Given the description of an element on the screen output the (x, y) to click on. 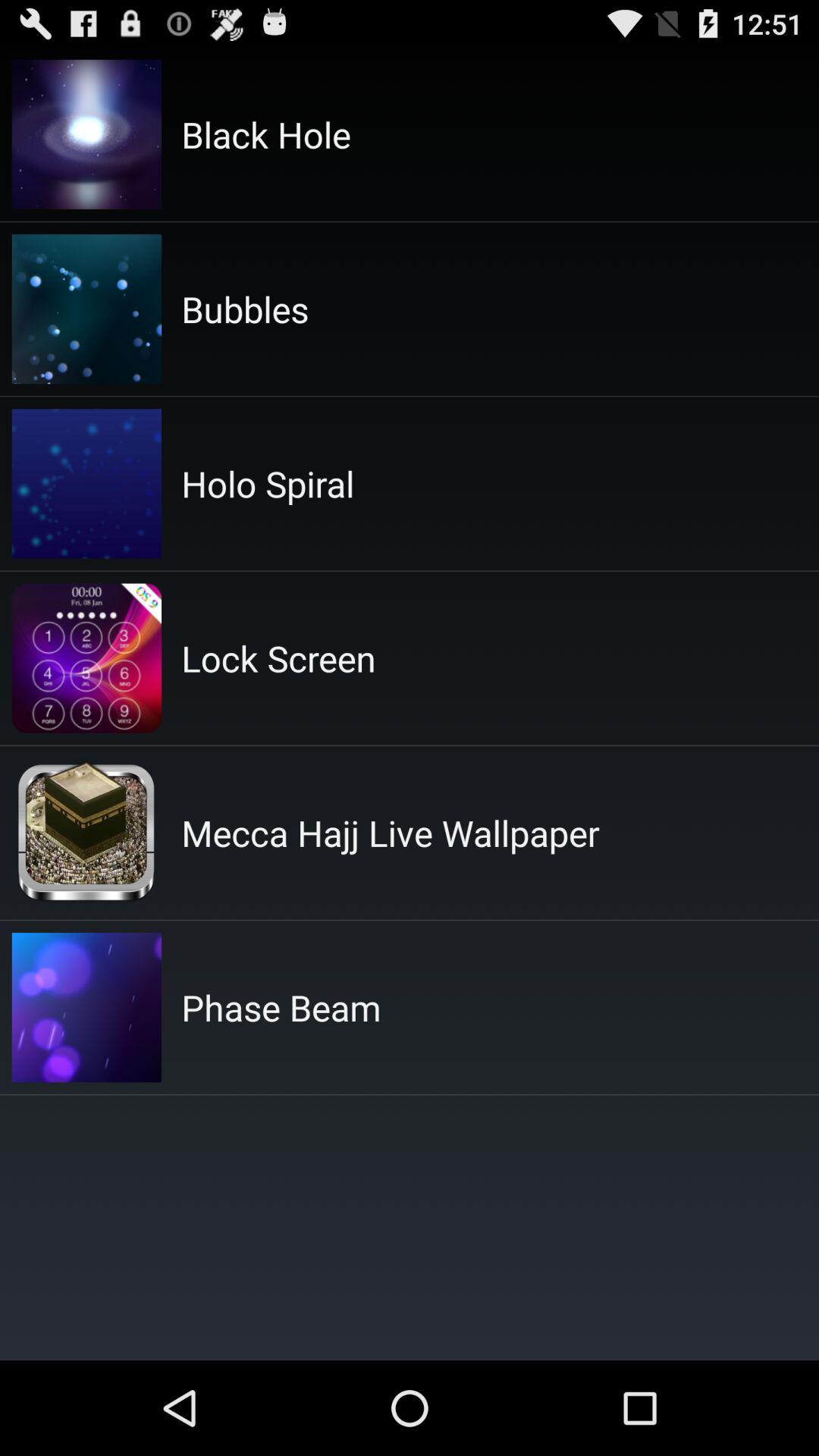
flip until the black hole icon (265, 134)
